Given the description of an element on the screen output the (x, y) to click on. 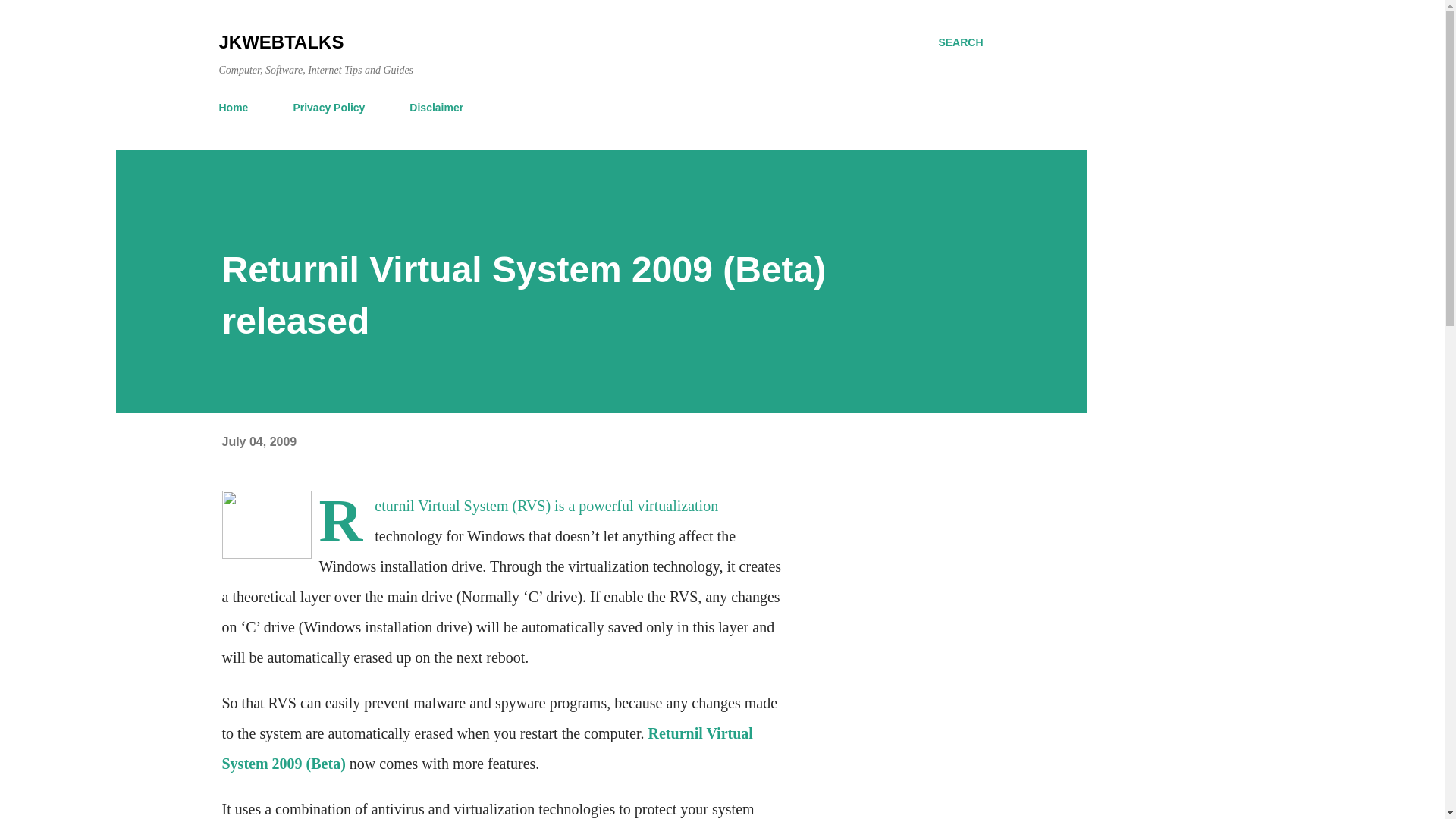
JKWEBTALKS (280, 41)
Returnil Virtual System (441, 505)
SEARCH (959, 42)
Privacy Policy (328, 107)
permanent link (259, 440)
Home (237, 107)
Disclaimer (435, 107)
July 04, 2009 (259, 440)
